Given the description of an element on the screen output the (x, y) to click on. 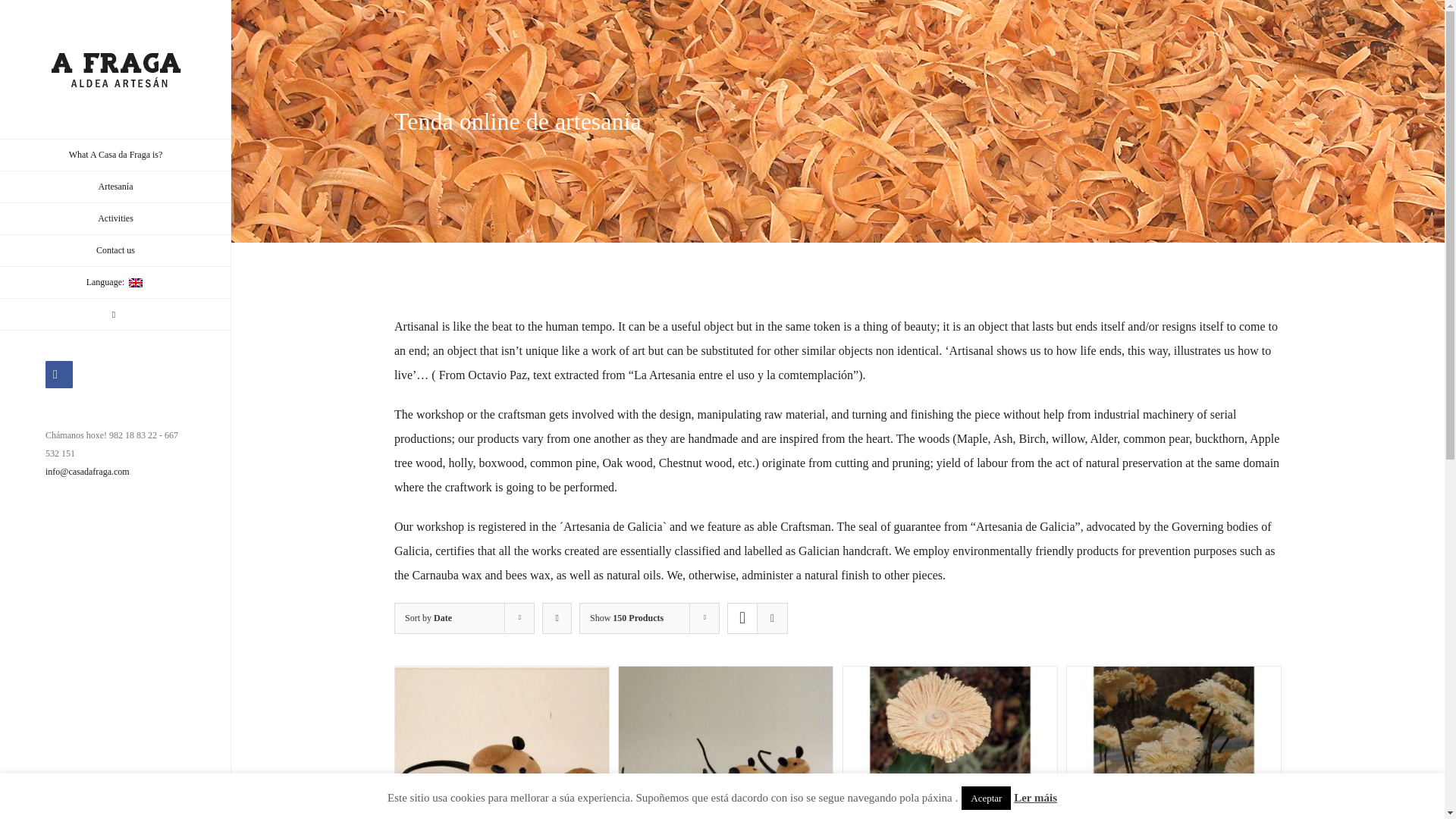
What A Casa da Fraga is? (115, 154)
Contact us (115, 250)
Sort by Date (427, 617)
English (115, 282)
Activities (115, 219)
Facebook (58, 374)
Language:  (115, 282)
